Given the description of an element on the screen output the (x, y) to click on. 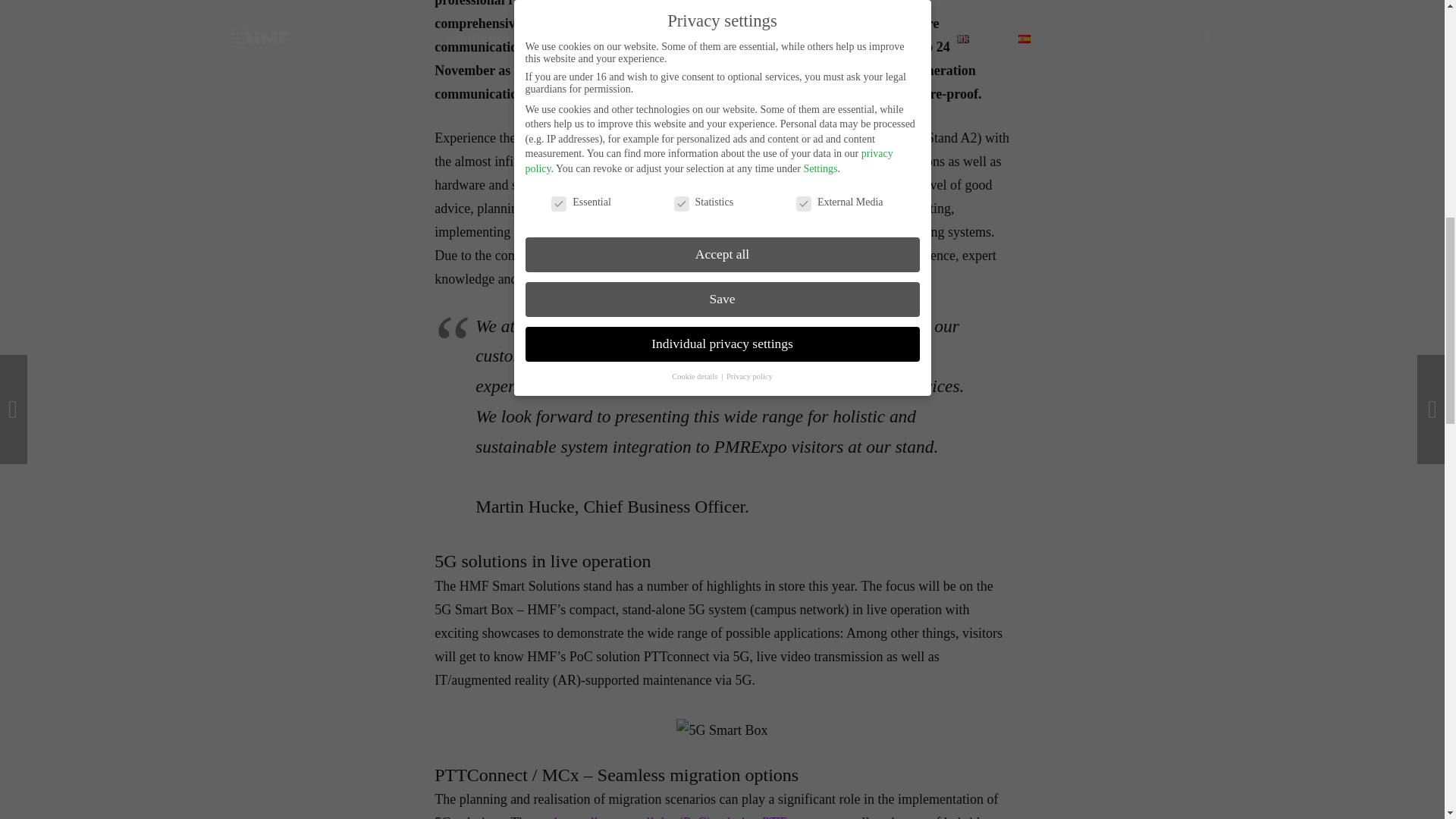
Back to top (1413, 26)
